Given the description of an element on the screen output the (x, y) to click on. 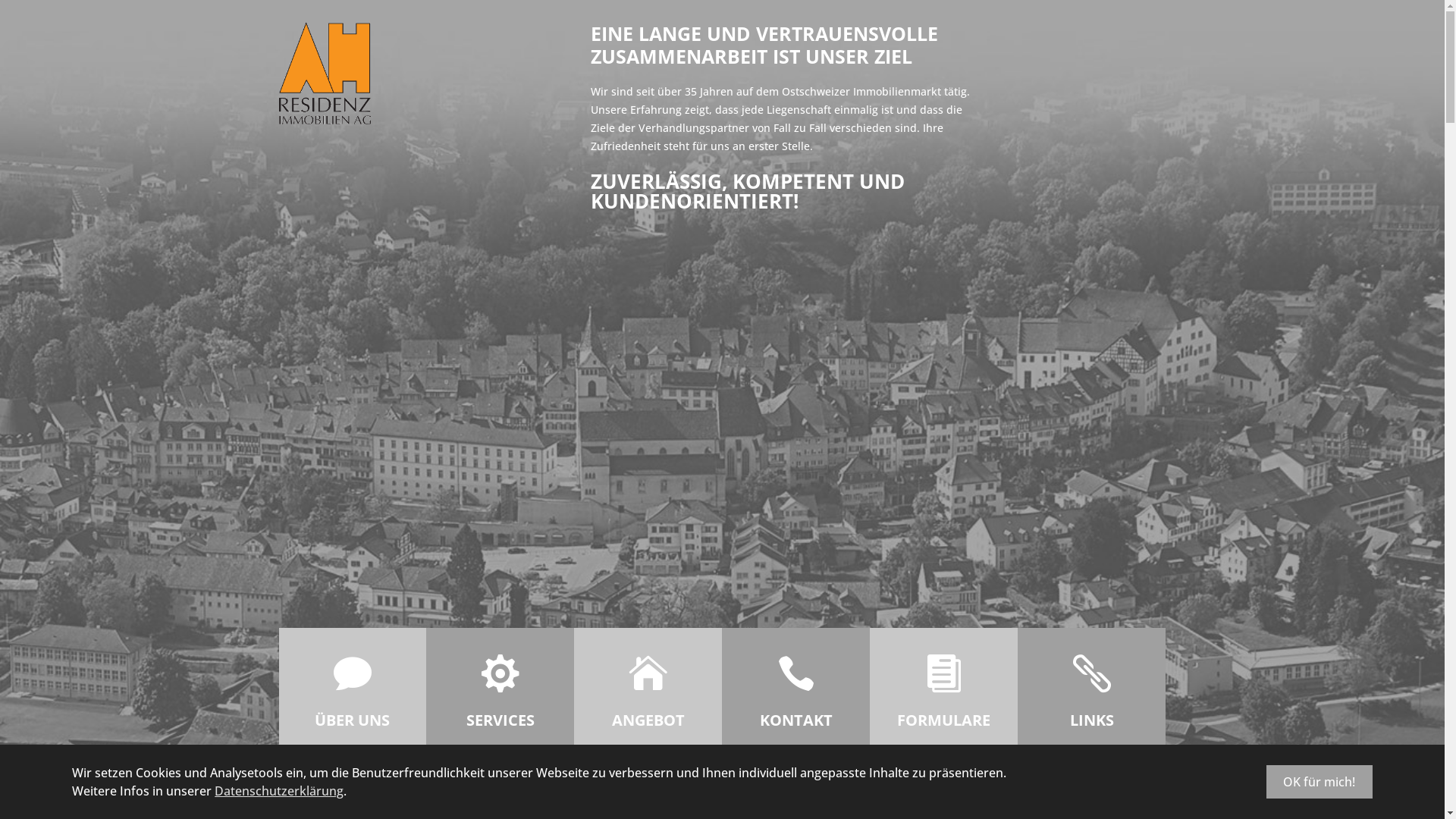
FORMULARE Element type: text (943, 719)
LINKS Element type: text (1091, 719)
ANGEBOT Element type: text (647, 719)
KONTAKT Element type: text (795, 719)
SERVICES Element type: text (500, 719)
